Given the description of an element on the screen output the (x, y) to click on. 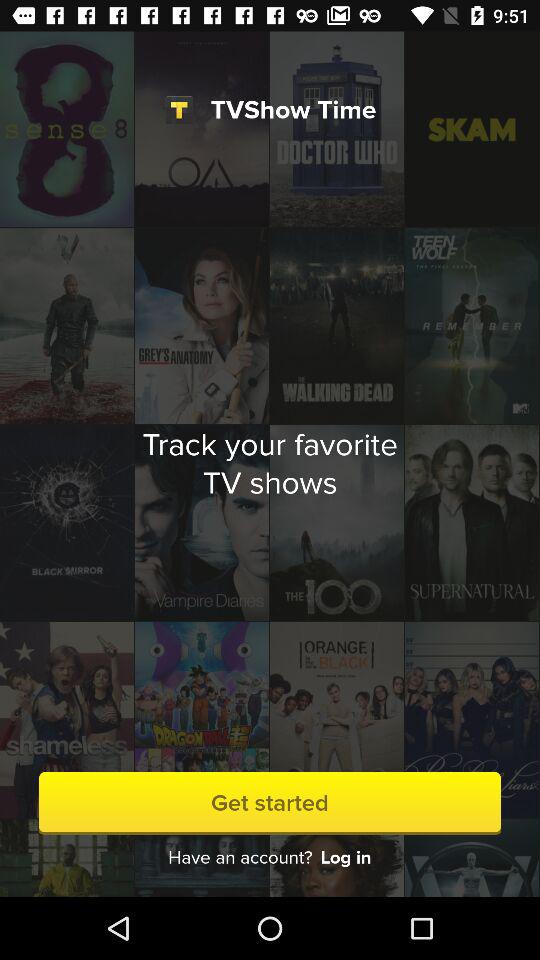
turn off icon above have an account? item (269, 802)
